Given the description of an element on the screen output the (x, y) to click on. 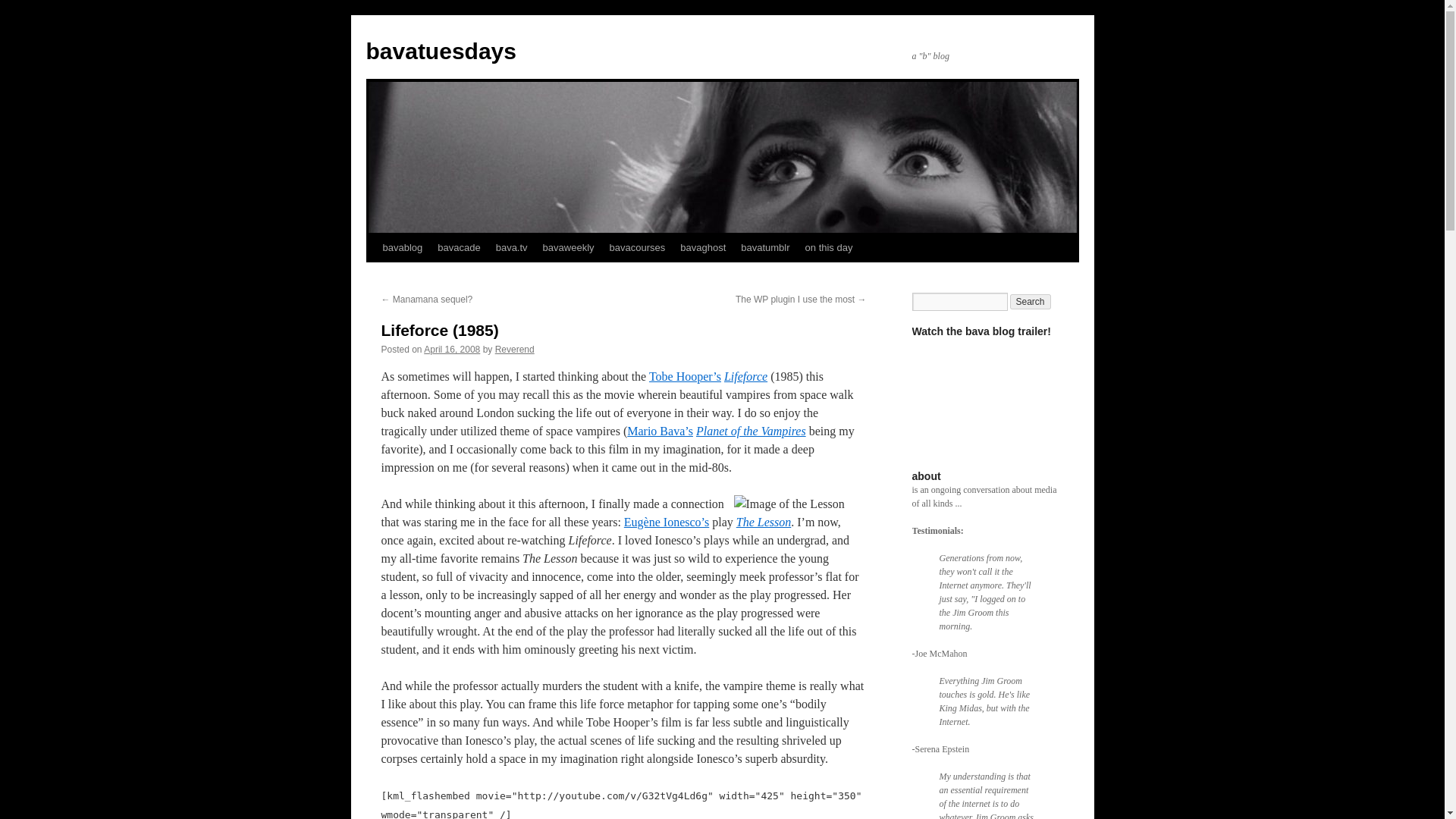
Reverend (514, 348)
Lifeforce (745, 376)
bavacourses (637, 247)
on this day (828, 247)
bavacade (458, 247)
Search (1030, 301)
4:01 pm (451, 348)
April 16, 2008 (451, 348)
Planet of the Vampires (750, 431)
bavatumblr (764, 247)
